Given the description of an element on the screen output the (x, y) to click on. 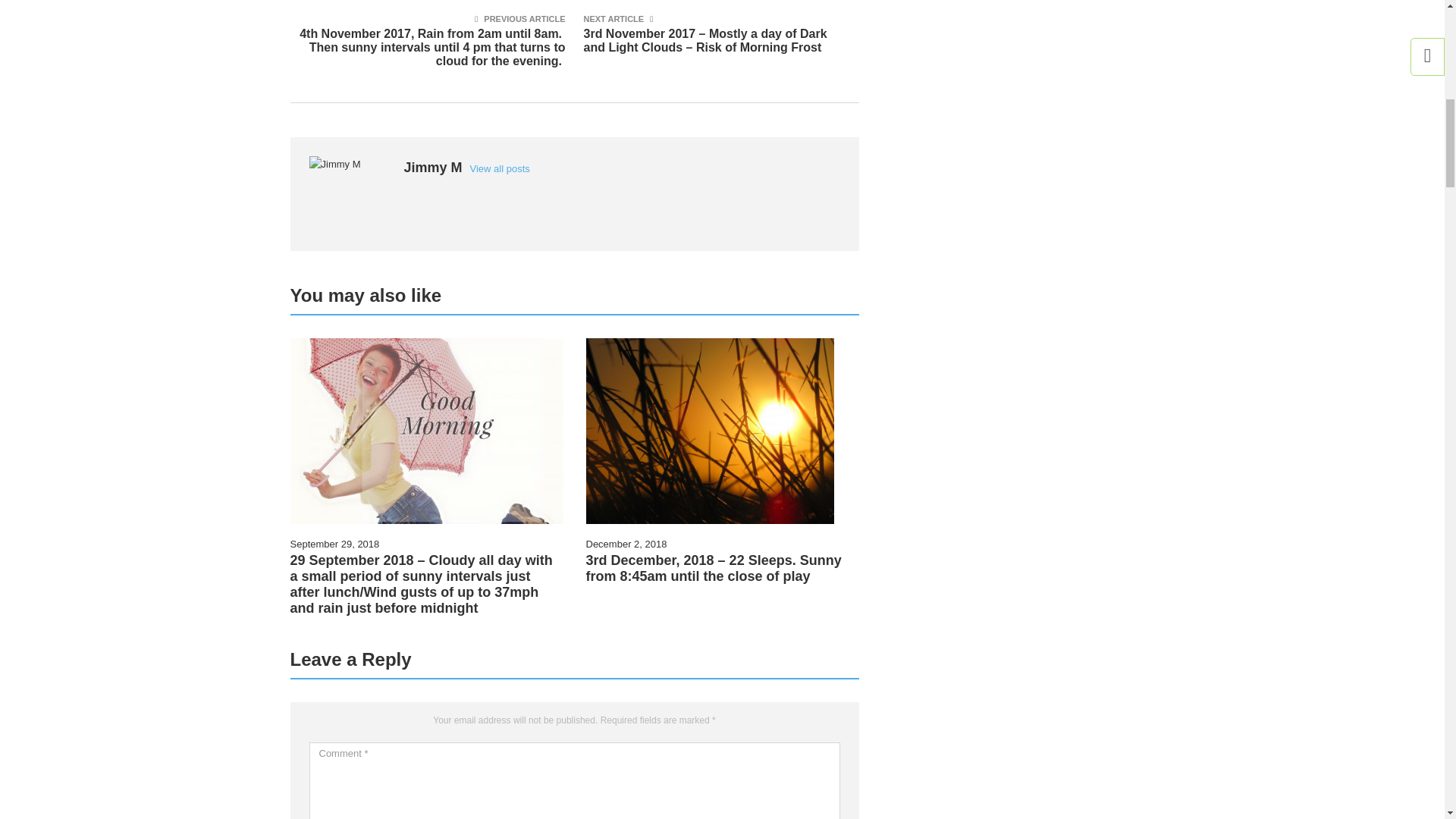
View all posts (499, 168)
